Given the description of an element on the screen output the (x, y) to click on. 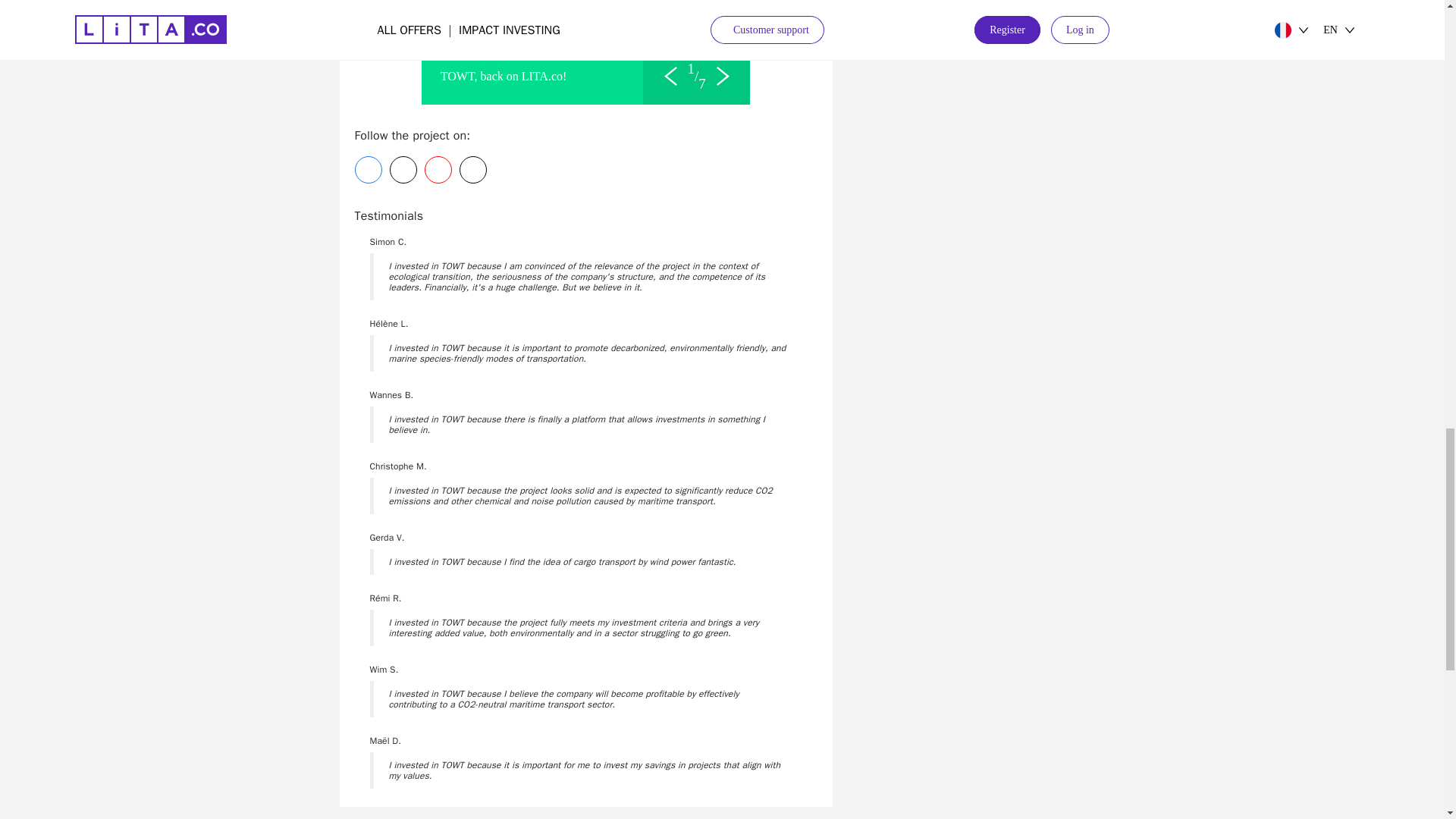
YouTube video player (585, 33)
